Given the description of an element on the screen output the (x, y) to click on. 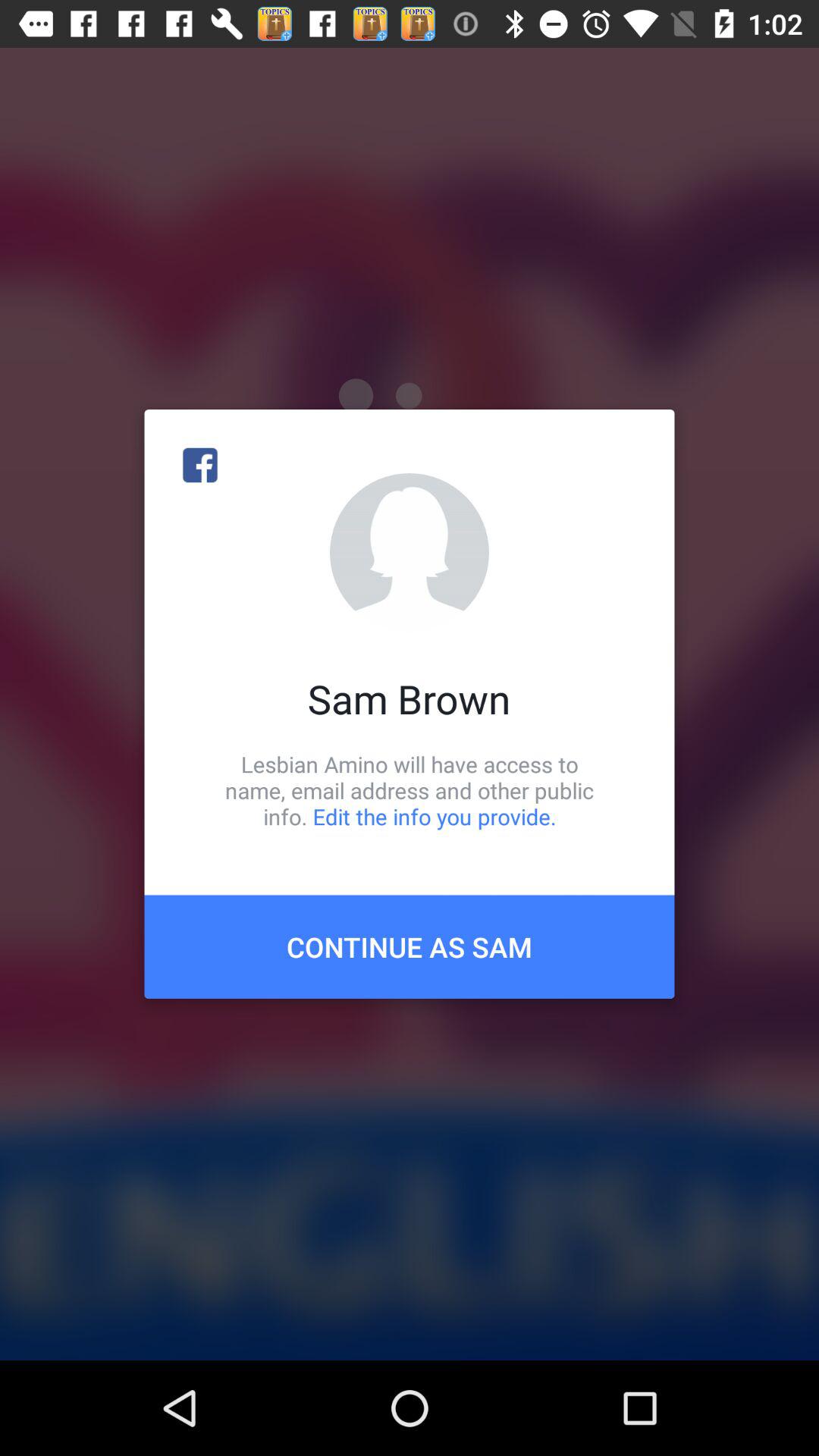
select the continue as sam item (409, 946)
